Given the description of an element on the screen output the (x, y) to click on. 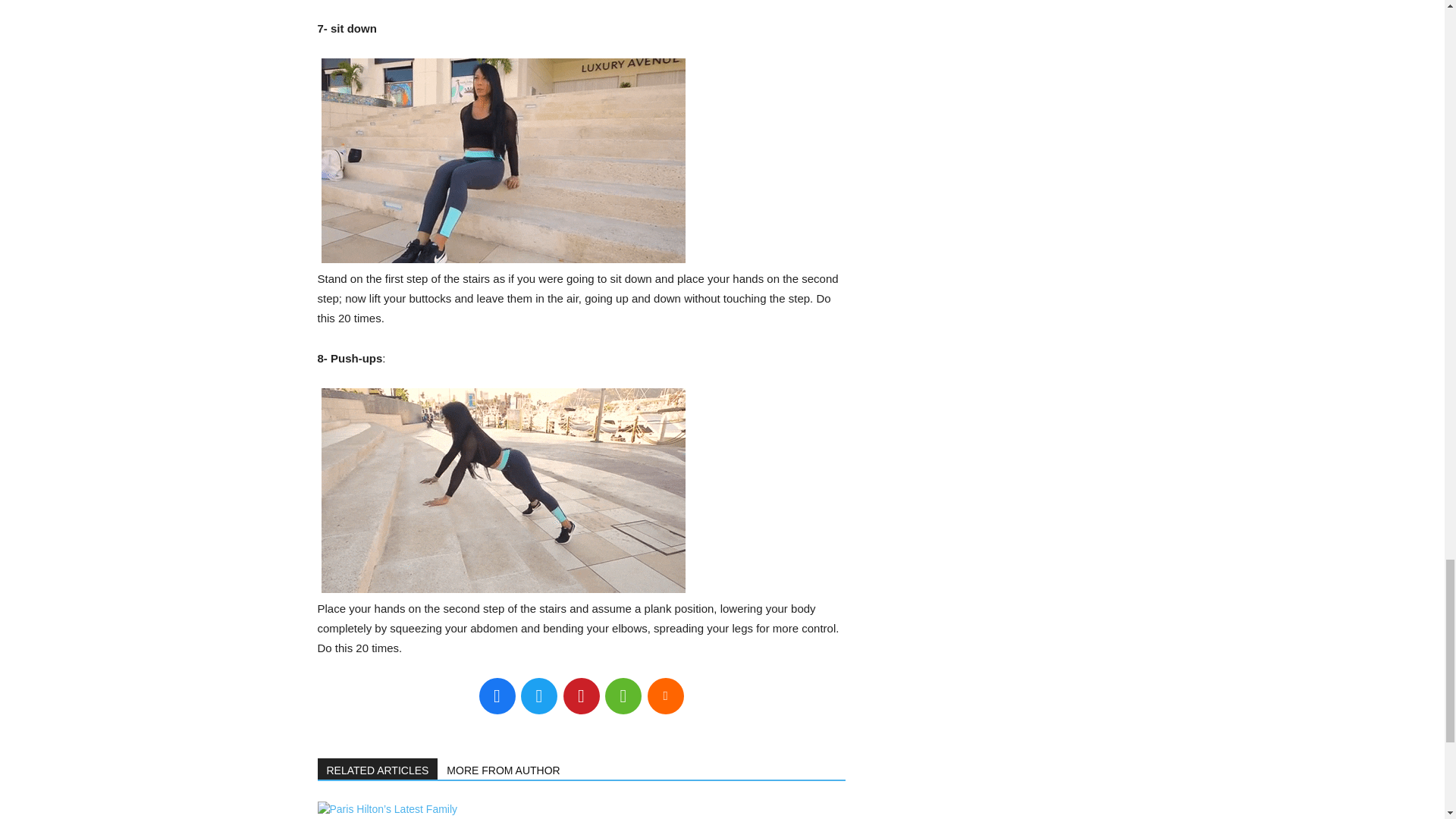
bottomFacebookLike (430, 745)
RELATED ARTICLES (377, 768)
WhatsApp (623, 696)
Submit this to Pinterest (580, 696)
Share this on Facebook (497, 696)
Tweet this ! (539, 696)
More share links (665, 696)
MORE FROM AUTHOR (503, 768)
